Given the description of an element on the screen output the (x, y) to click on. 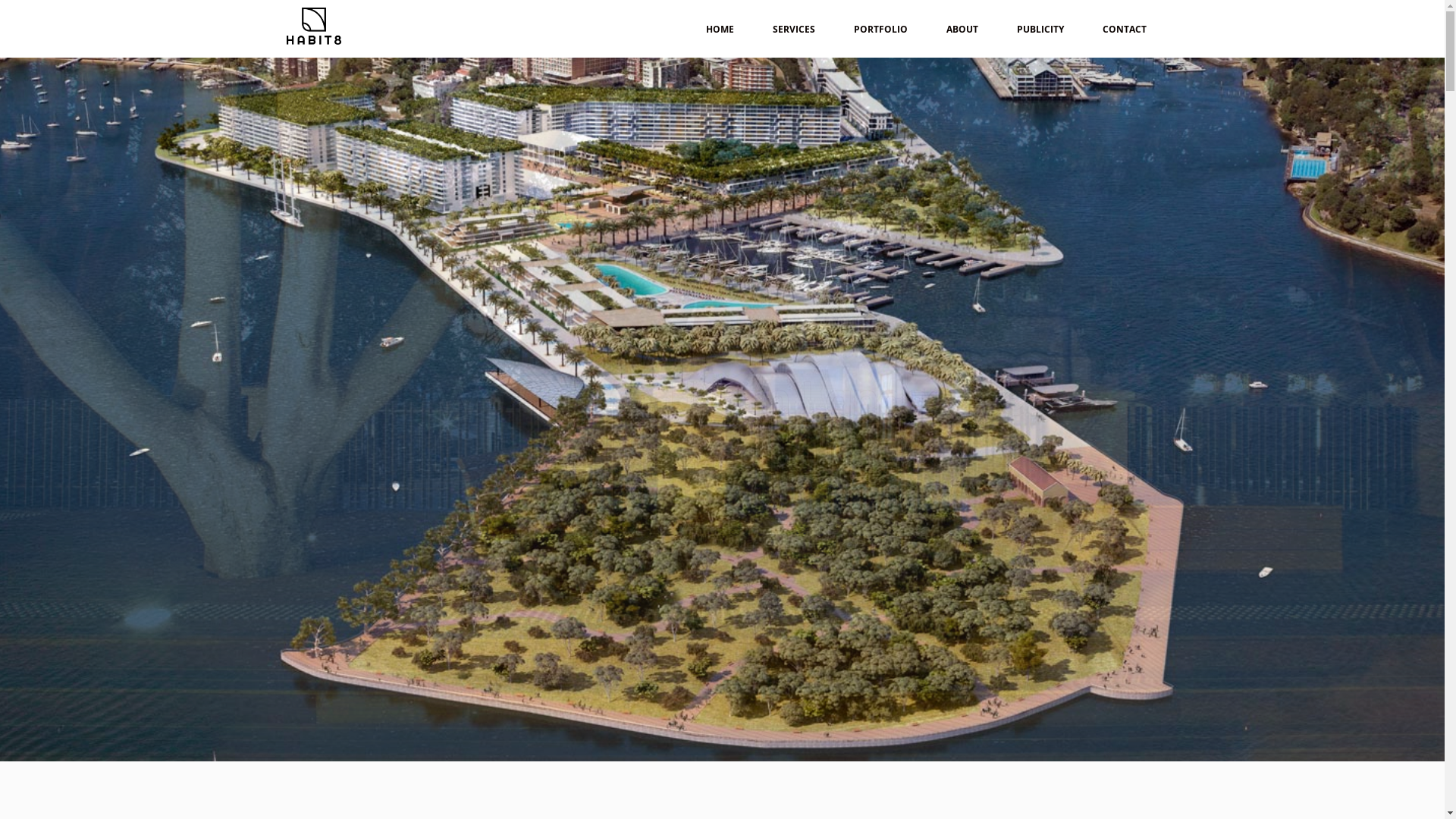
ABOUT Element type: text (961, 28)
PUBLICITY Element type: text (1039, 28)
HOME Element type: text (720, 28)
SERVICES Element type: text (793, 28)
PORTFOLIO Element type: text (879, 28)
SEE OUR PROJECTS Element type: text (722, 507)
CONTACT Element type: text (1123, 28)
